Given the description of an element on the screen output the (x, y) to click on. 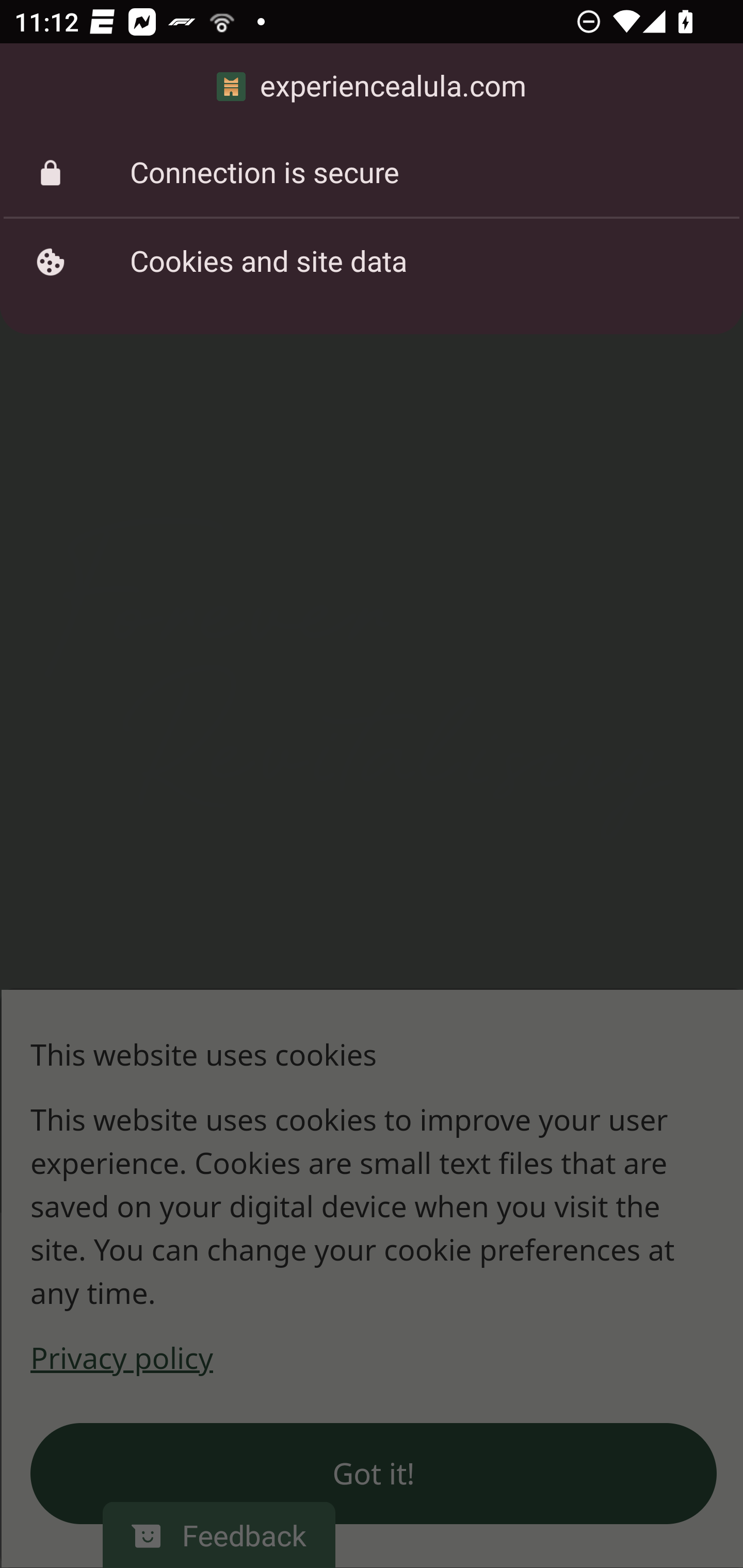
experiencealula.com (371, 86)
Connection is secure (371, 173)
Cookies and site data (371, 261)
